Given the description of an element on the screen output the (x, y) to click on. 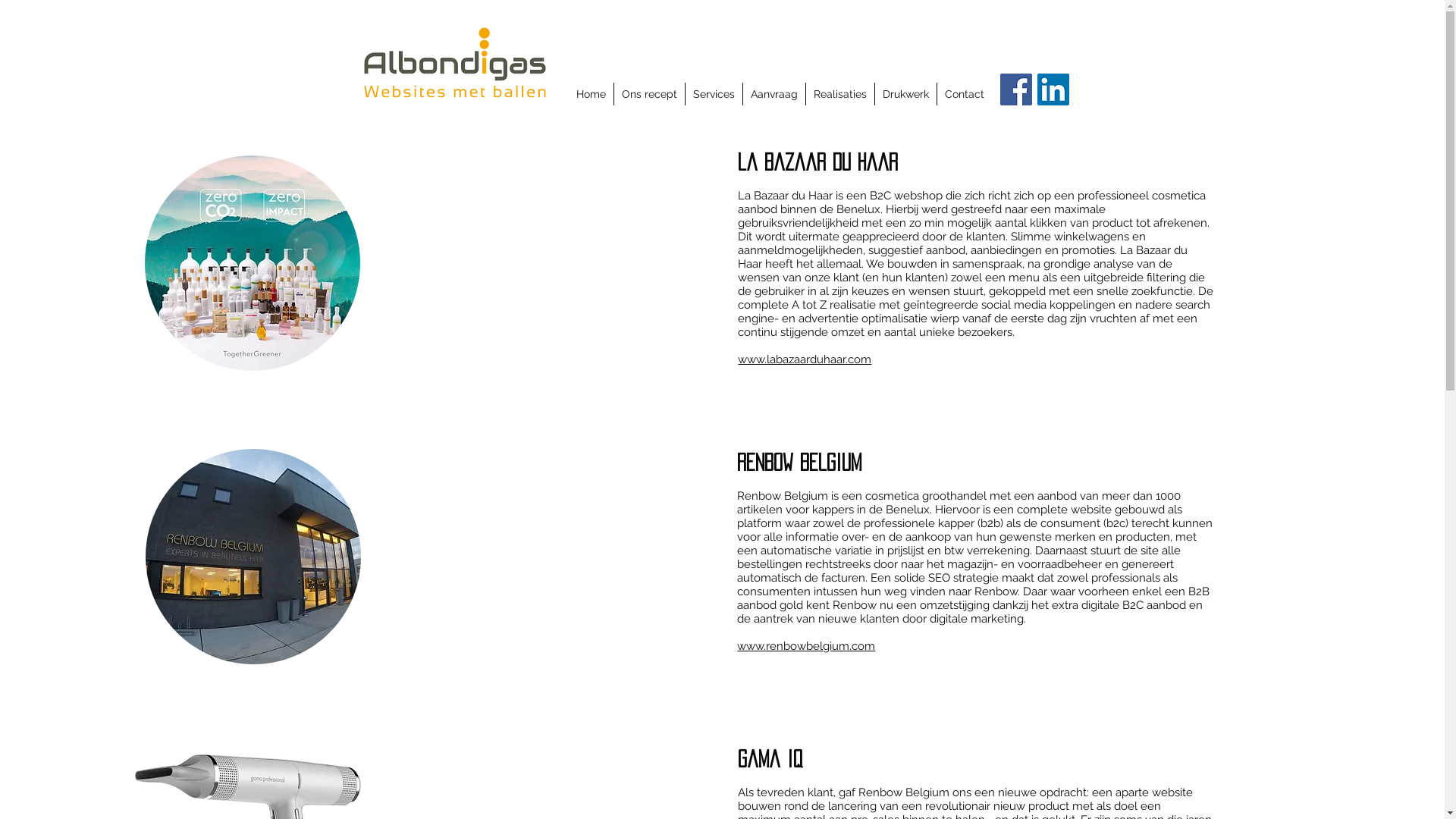
www.renbowbelgium.com Element type: text (806, 645)
Realisaties Element type: text (839, 93)
Drukwerk Element type: text (904, 93)
www.labazaarduhaar.com Element type: text (804, 359)
Services Element type: text (712, 93)
Aanvraag Element type: text (772, 93)
Contact Element type: text (963, 93)
Home Element type: text (590, 93)
Ons recept Element type: text (648, 93)
